Given the description of an element on the screen output the (x, y) to click on. 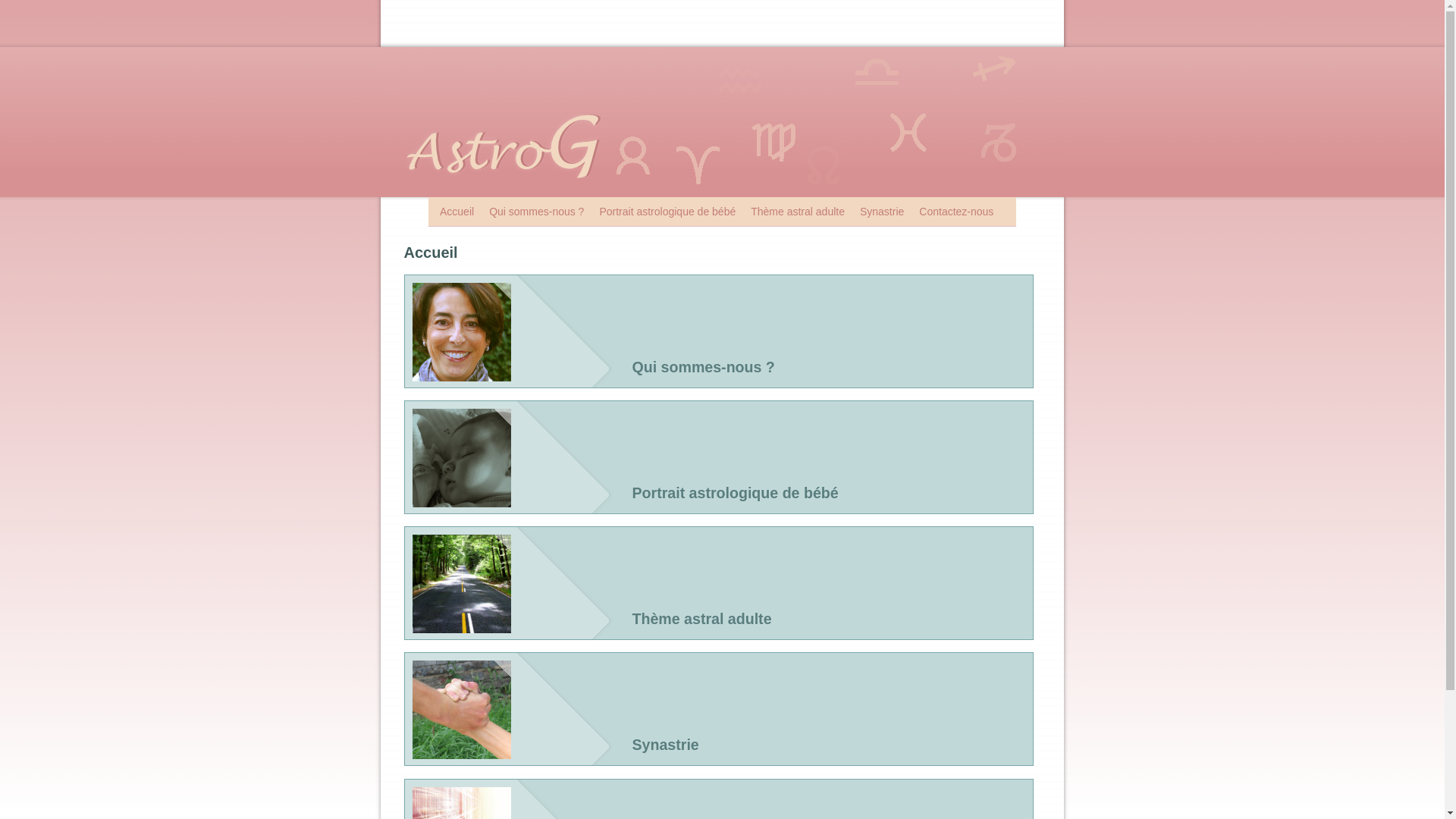
Qui sommes-nous ? Element type: text (832, 325)
Accueil Element type: text (456, 211)
Contactez-nous Element type: text (956, 211)
Synastrie Element type: text (881, 211)
Synastrie Element type: text (832, 702)
Qui sommes-nous ? Element type: text (536, 211)
